Given the description of an element on the screen output the (x, y) to click on. 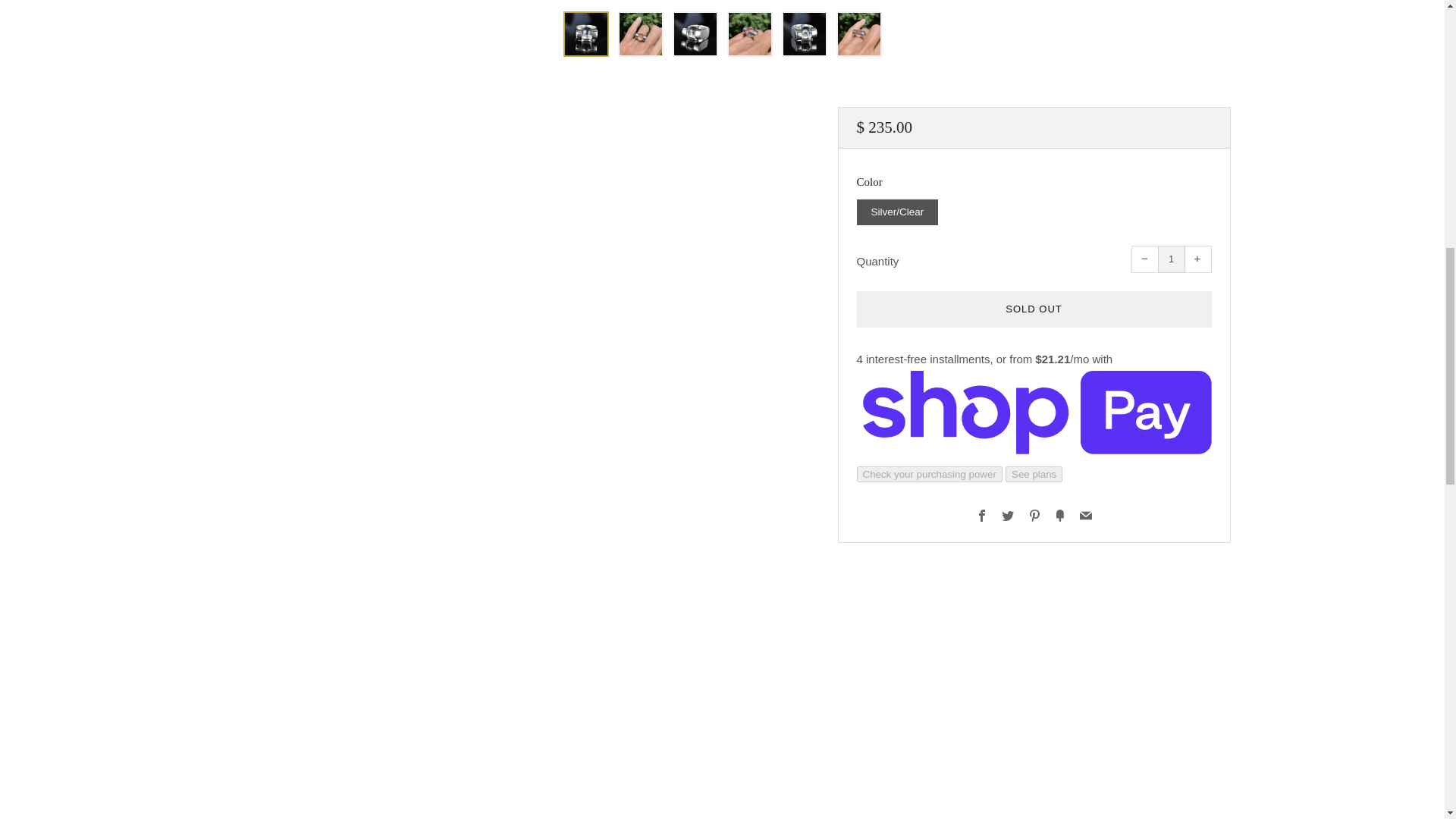
1 (1171, 258)
